Given the description of an element on the screen output the (x, y) to click on. 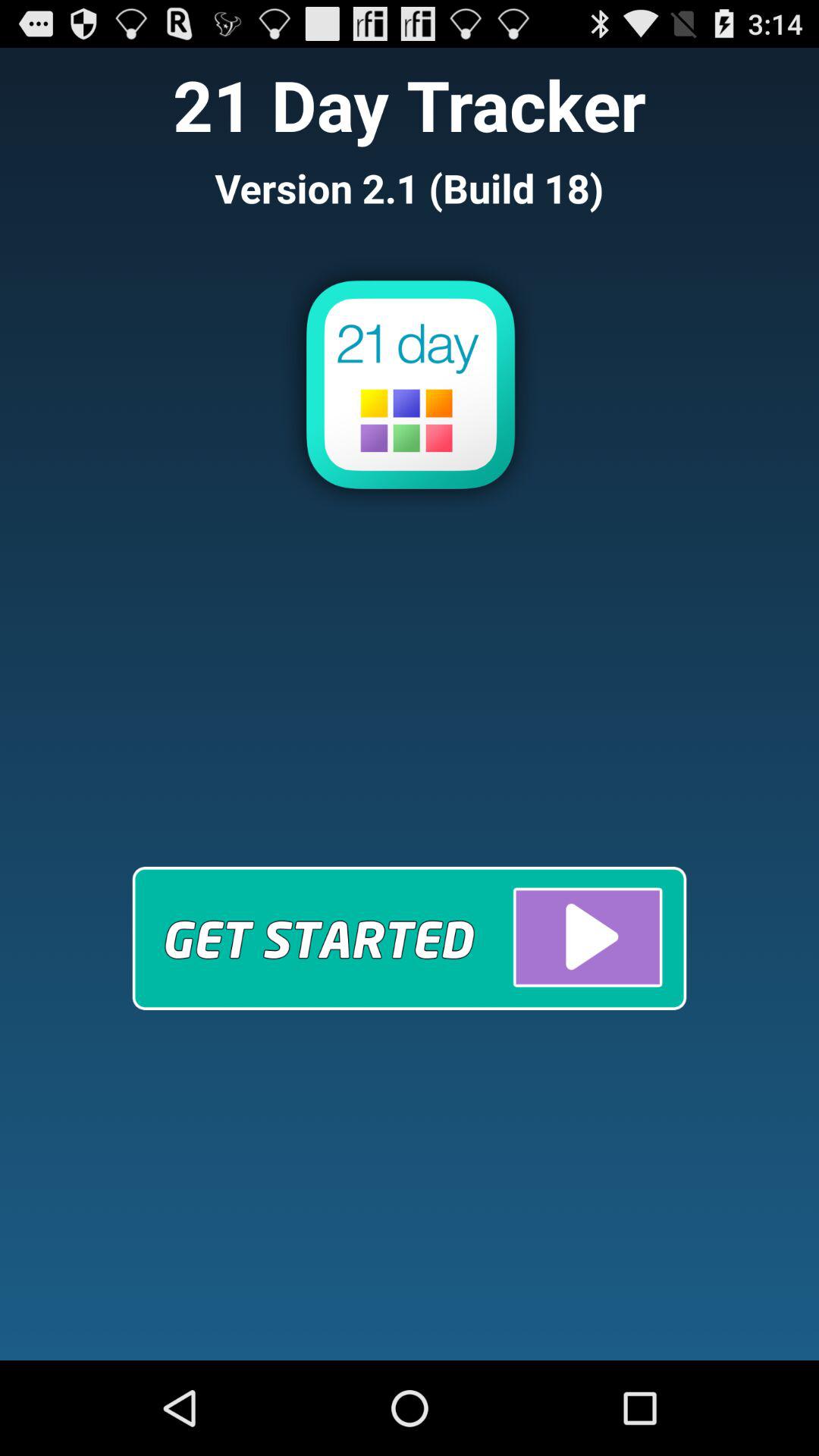
get started (409, 937)
